Given the description of an element on the screen output the (x, y) to click on. 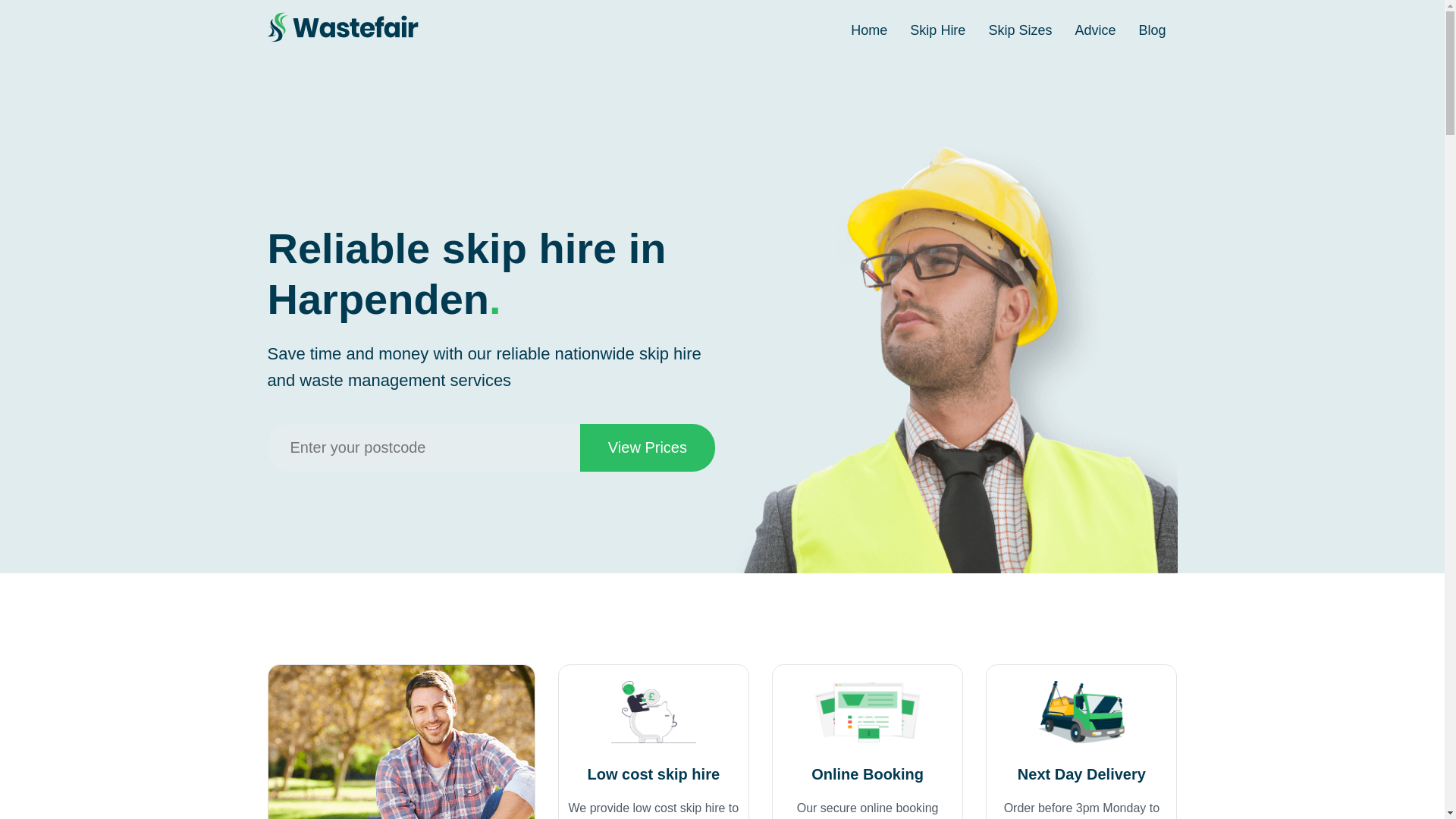
Advice (1094, 30)
View Prices (646, 447)
Skip Hire (937, 30)
Skip Sizes (1019, 30)
Home (869, 30)
Blog (1152, 30)
View Prices (646, 447)
View Prices (646, 447)
